Given the description of an element on the screen output the (x, y) to click on. 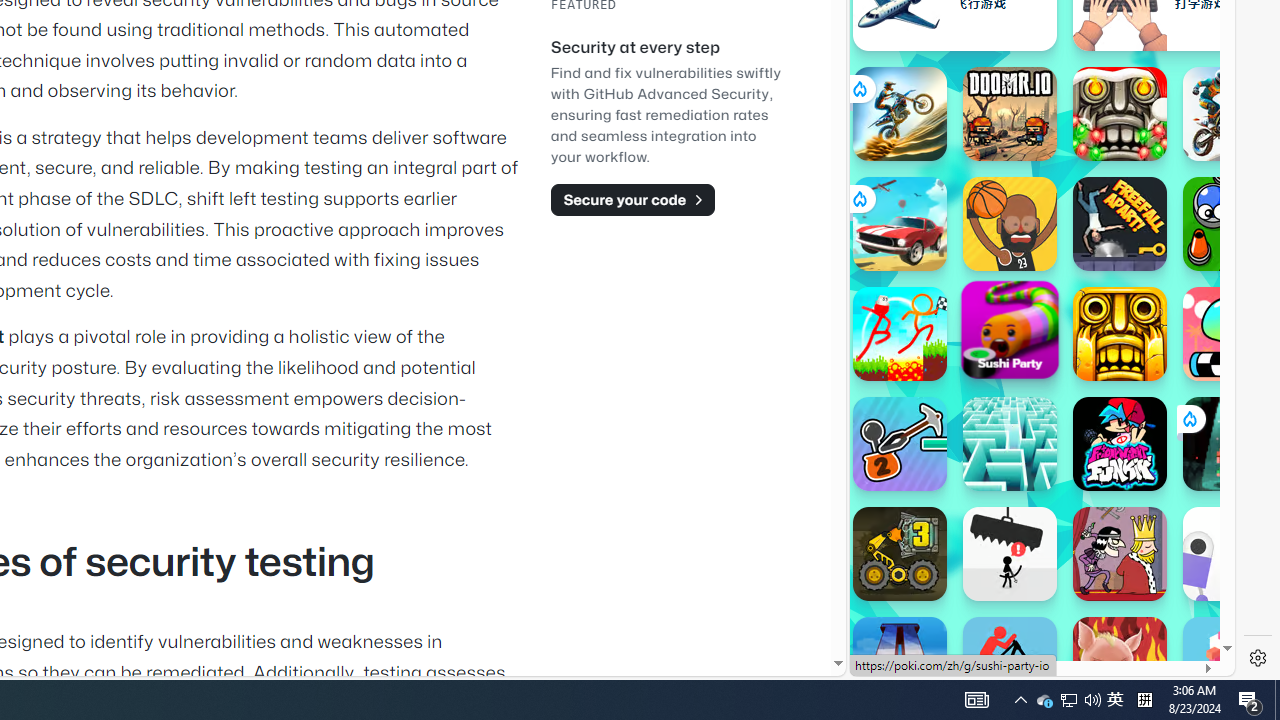
Avoid Dying (1009, 553)
BoxRob 3 (899, 553)
Hills of Steel Hills of Steel poki.com (943, 245)
Freefall Apart Freefall Apart (1119, 223)
Stunt Paradise Stunt Paradise (899, 223)
Stickman Bike Stickman Bike (1009, 664)
Crossy Road (1229, 664)
Stickman Climb 2 Stickman Climb 2 (899, 443)
Doomr.io (1009, 113)
